Given the description of an element on the screen output the (x, y) to click on. 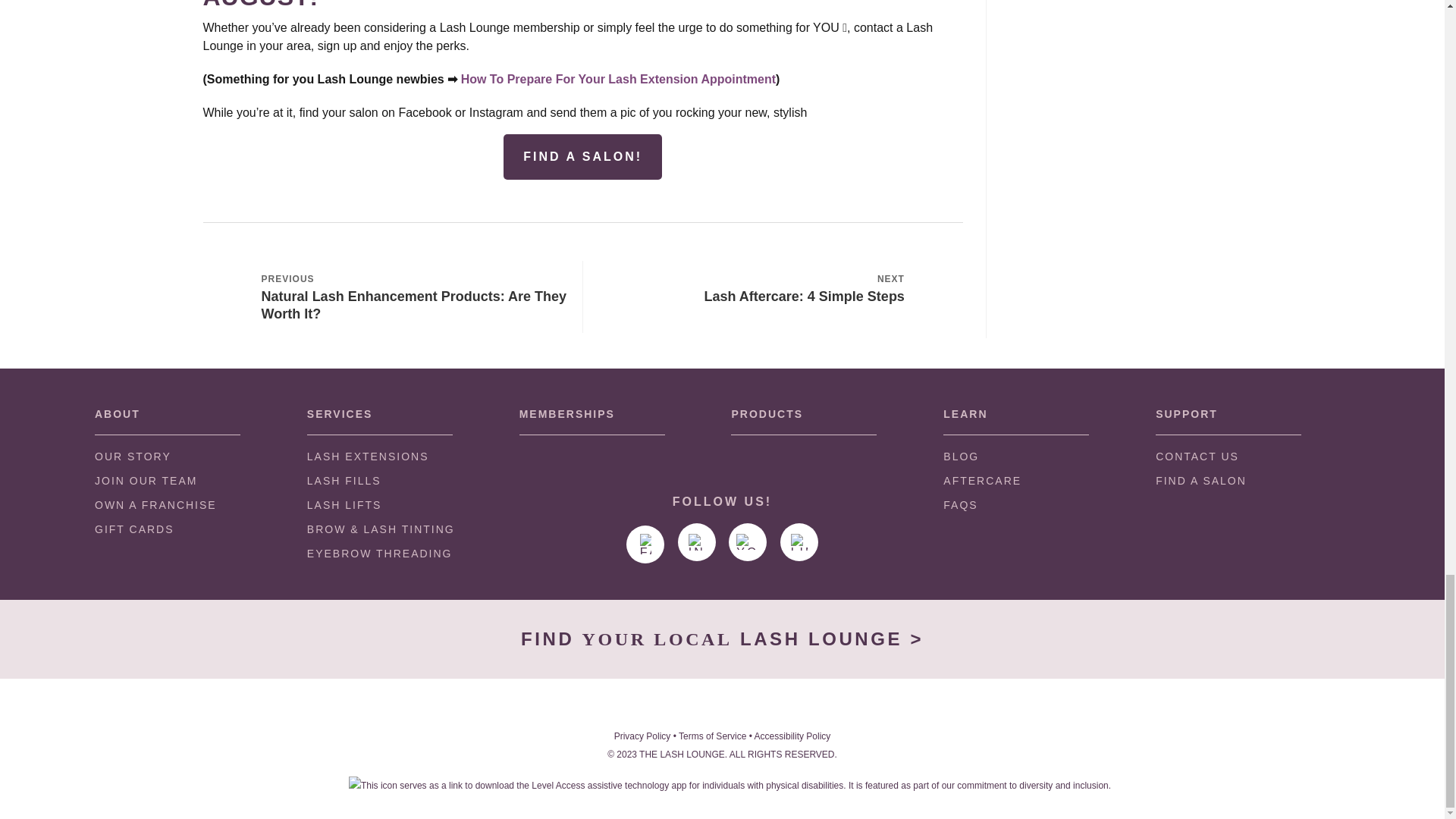
LinkedIn (799, 542)
Instagram (697, 542)
Facebook (644, 544)
YouTube (748, 542)
FIND YOUR LOCAL LASH LOUNGE link (722, 638)
